Given the description of an element on the screen output the (x, y) to click on. 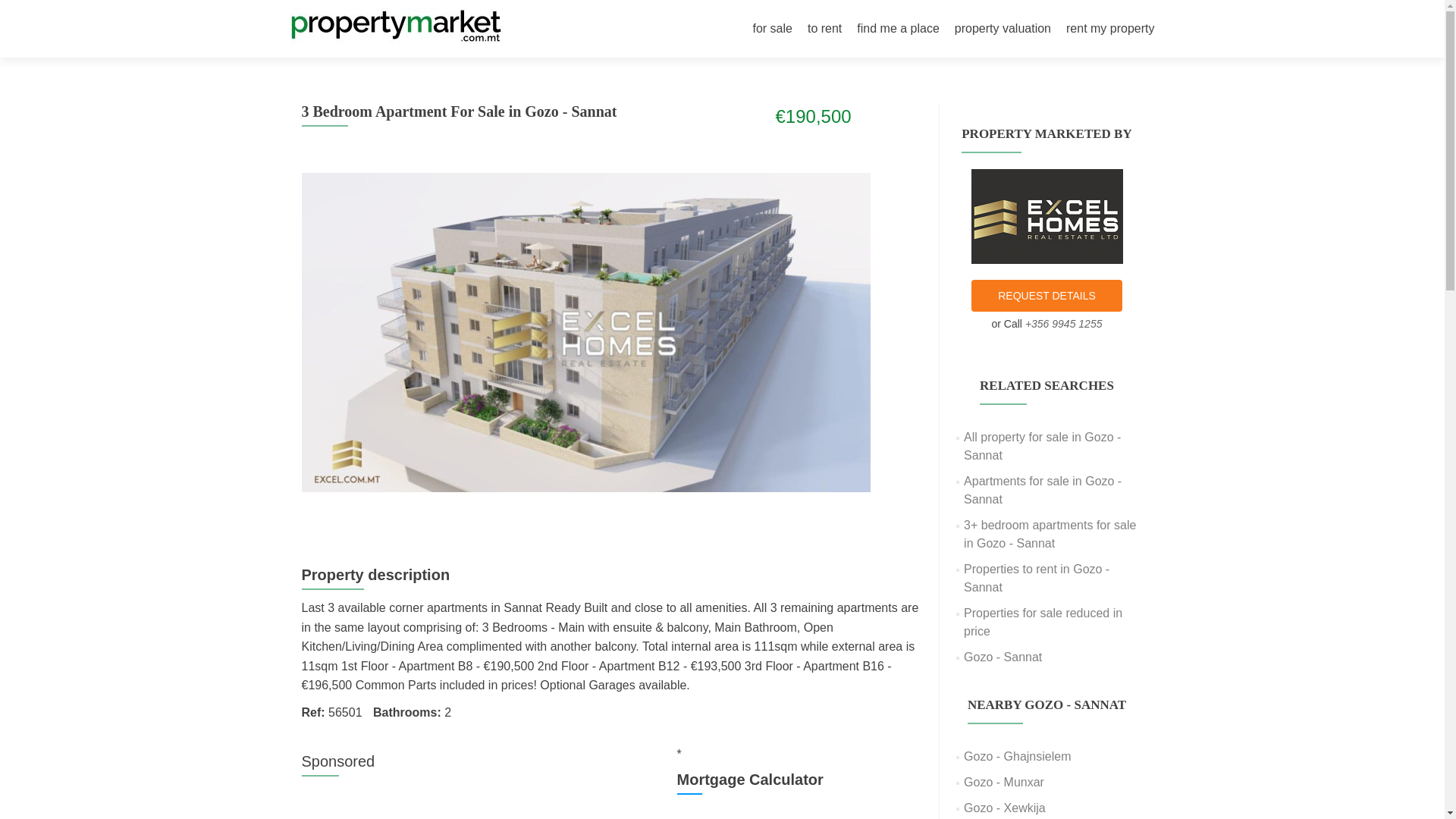
property valuation (1003, 28)
Properties to rent in Gozo - Sannat (1036, 577)
Gozo - Xewkija (1004, 807)
All property for sale in Gozo - Sannat (1042, 445)
Gozo - Sannat (1002, 656)
Apartments for sale in Gozo - Sannat (1042, 490)
for sale (772, 28)
Gozo - Munxar (1003, 781)
to rent (824, 28)
Gozo - Ghajnsielem (1016, 756)
Properties for sale reduced in price (1042, 622)
REQUEST DETAILS (1046, 296)
find me a place (898, 28)
rent my property (1109, 28)
